Given the description of an element on the screen output the (x, y) to click on. 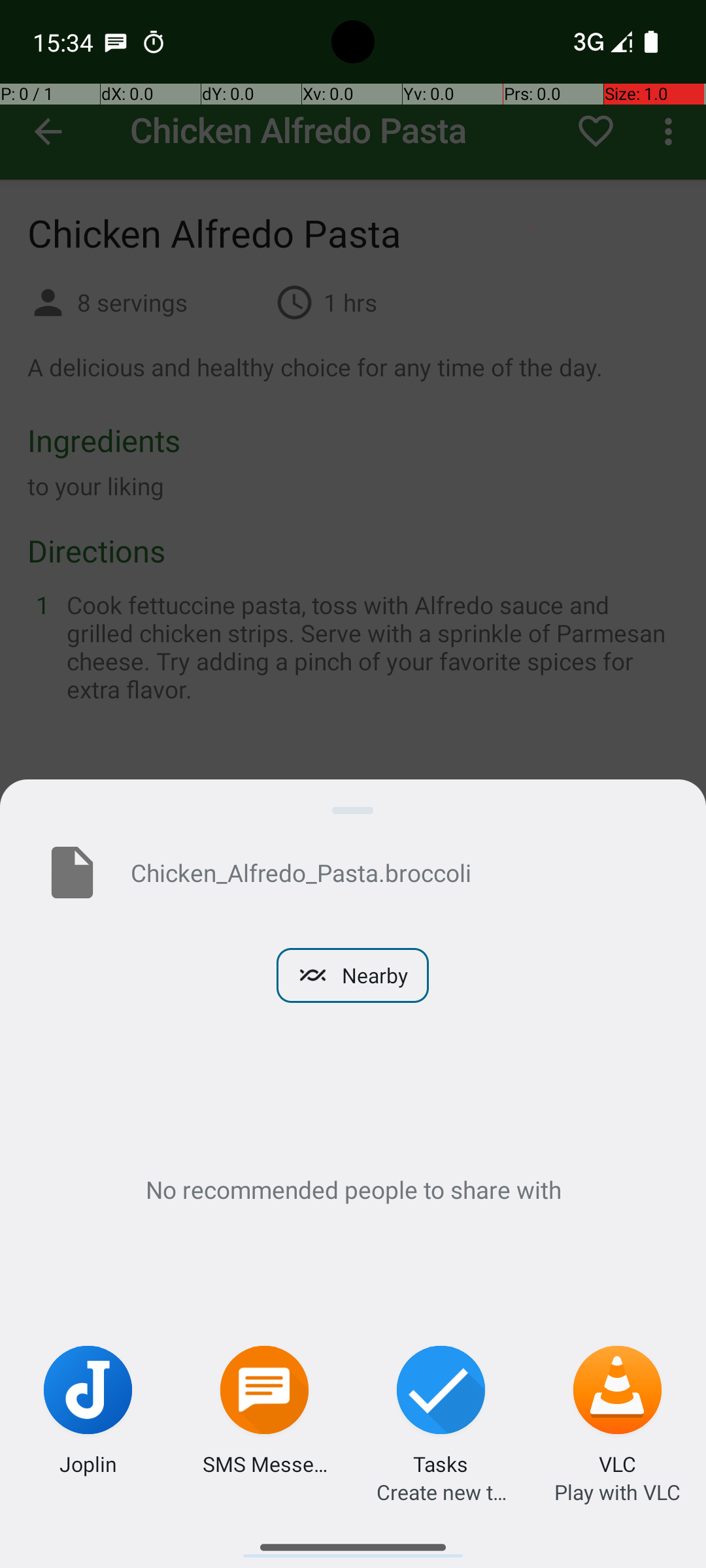
Chicken_Alfredo_Pasta.broccoli Element type: android.widget.TextView (397, 872)
